Given the description of an element on the screen output the (x, y) to click on. 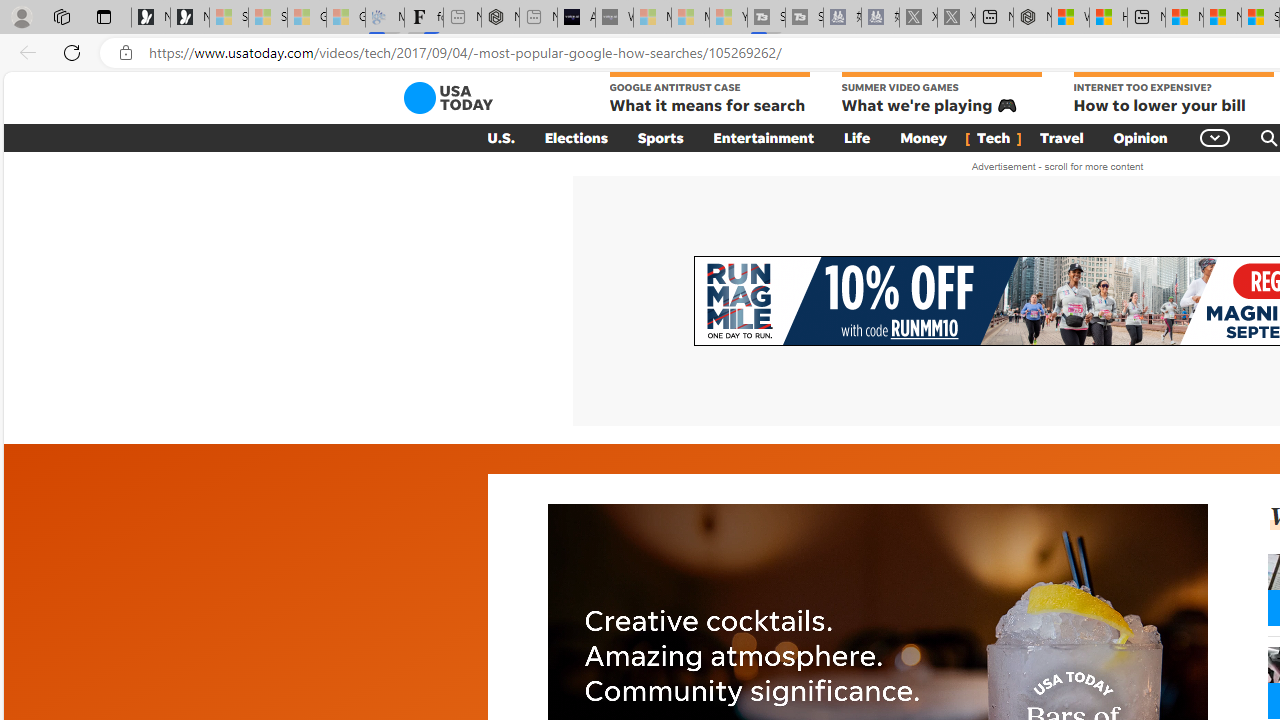
Entertainment (763, 137)
Life (857, 137)
U.S. (500, 137)
[ Tech ] (993, 137)
USA TODAY (447, 97)
